Given the description of an element on the screen output the (x, y) to click on. 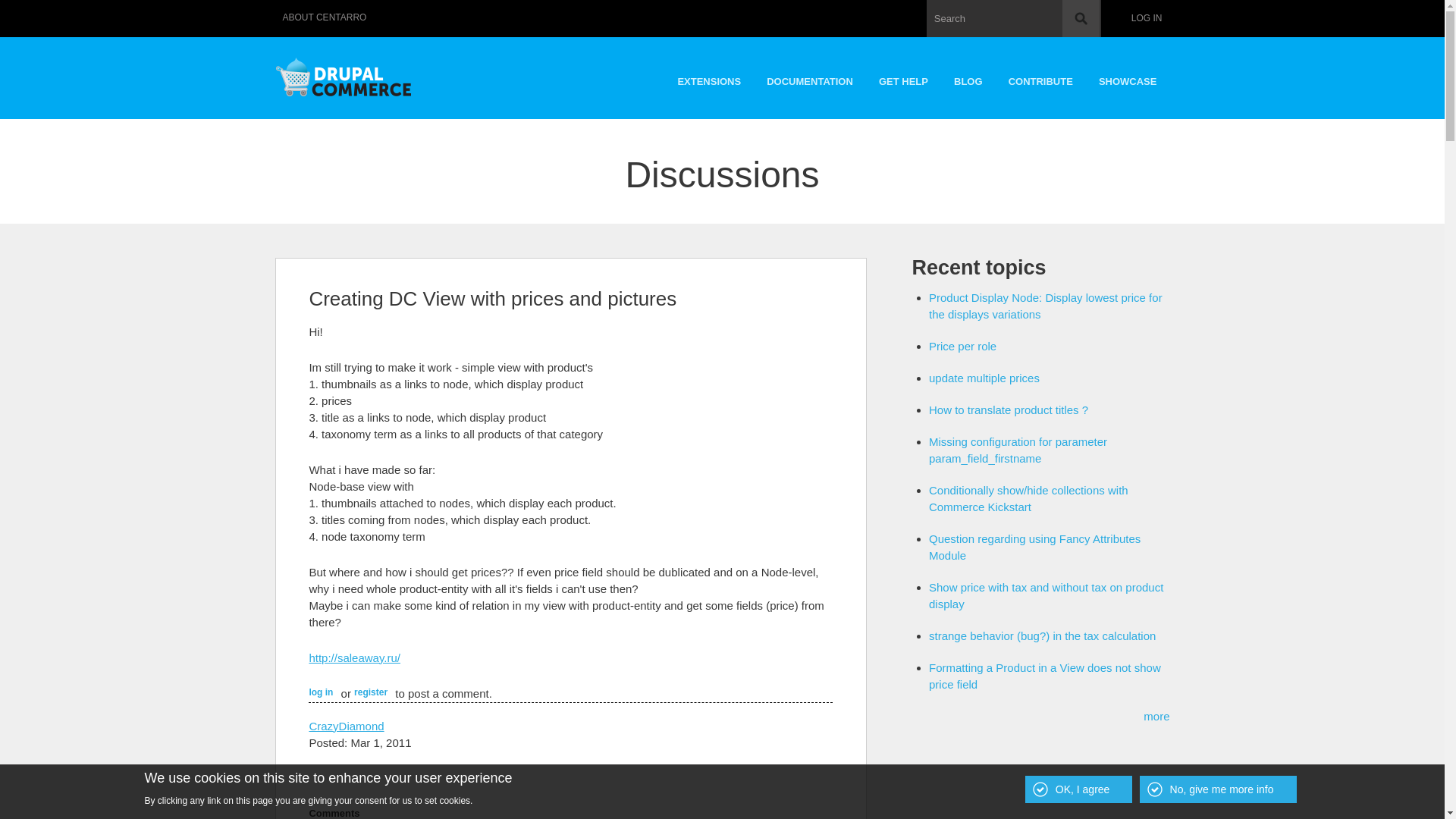
log in (320, 692)
CrazyDiamond (346, 725)
Enter the terms you wish to search for. (1013, 18)
Skip to main content (688, 1)
SHOWCASE (1128, 77)
EXTENSIONS (709, 77)
ABOUT CENTARRO (324, 18)
register (370, 692)
Search (1080, 18)
View user profile. (346, 725)
